Given the description of an element on the screen output the (x, y) to click on. 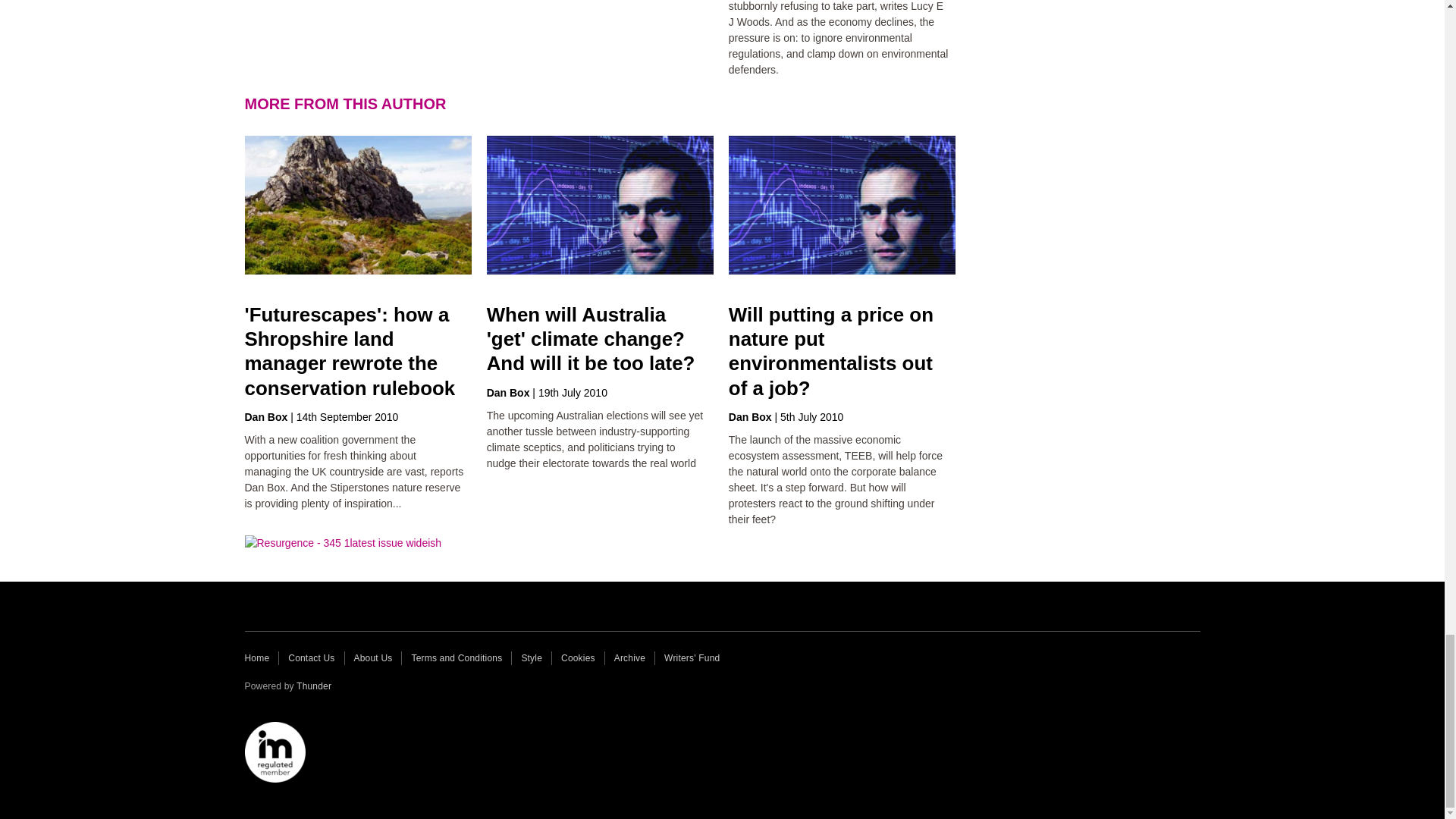
Monday, July 5, 2010 - 00:00 (811, 417)
Monday, July 19, 2010 - 00:00 (572, 392)
Tuesday, September 14, 2010 - 00:00 (347, 417)
